Given the description of an element on the screen output the (x, y) to click on. 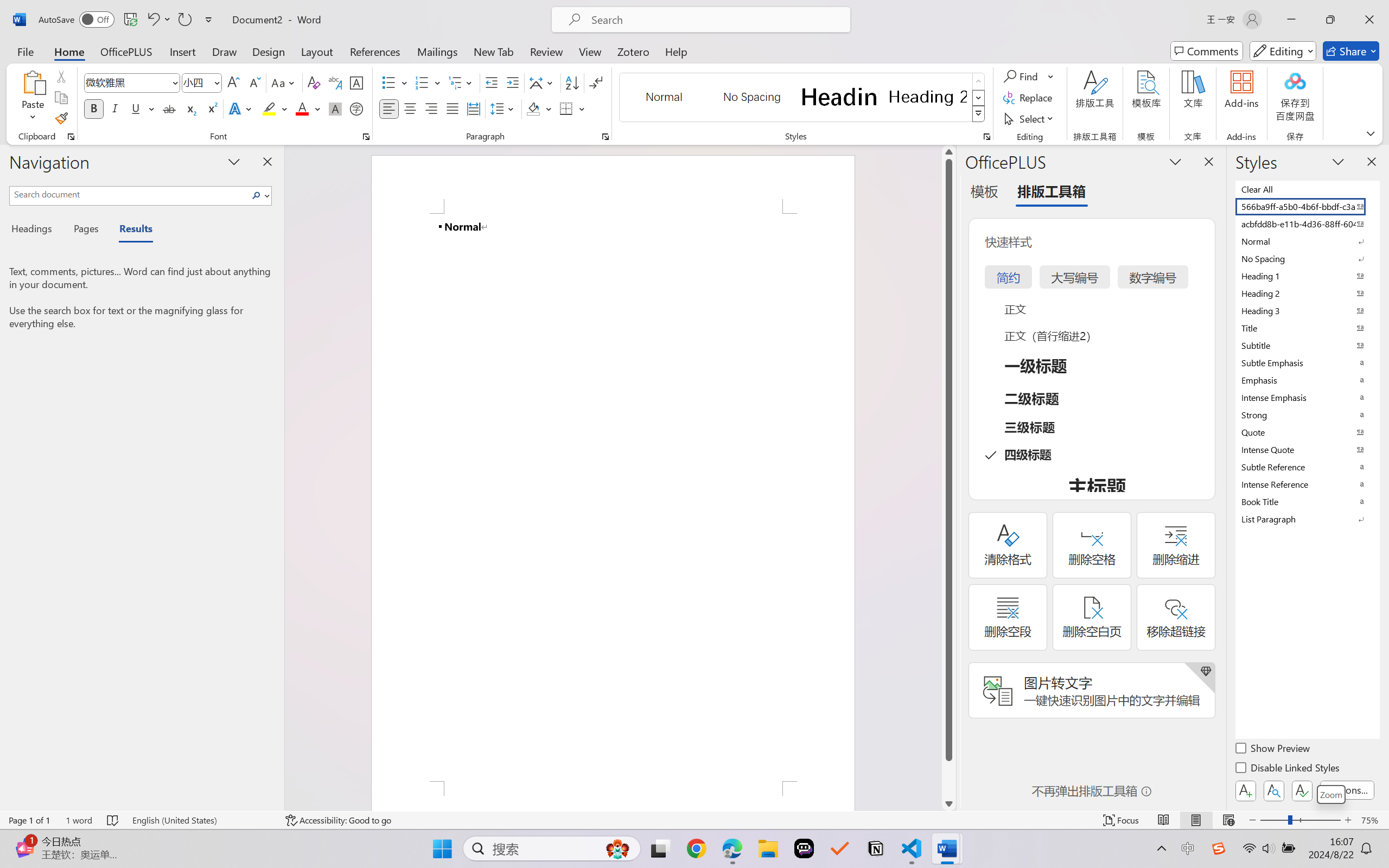
Customize Quick Access Toolbar (208, 19)
Quote (1306, 431)
Heading 3 (1306, 310)
AutoSave (76, 19)
Class: MsoCommandBar (694, 819)
Strikethrough (169, 108)
Find (1022, 75)
Find (1029, 75)
